Given the description of an element on the screen output the (x, y) to click on. 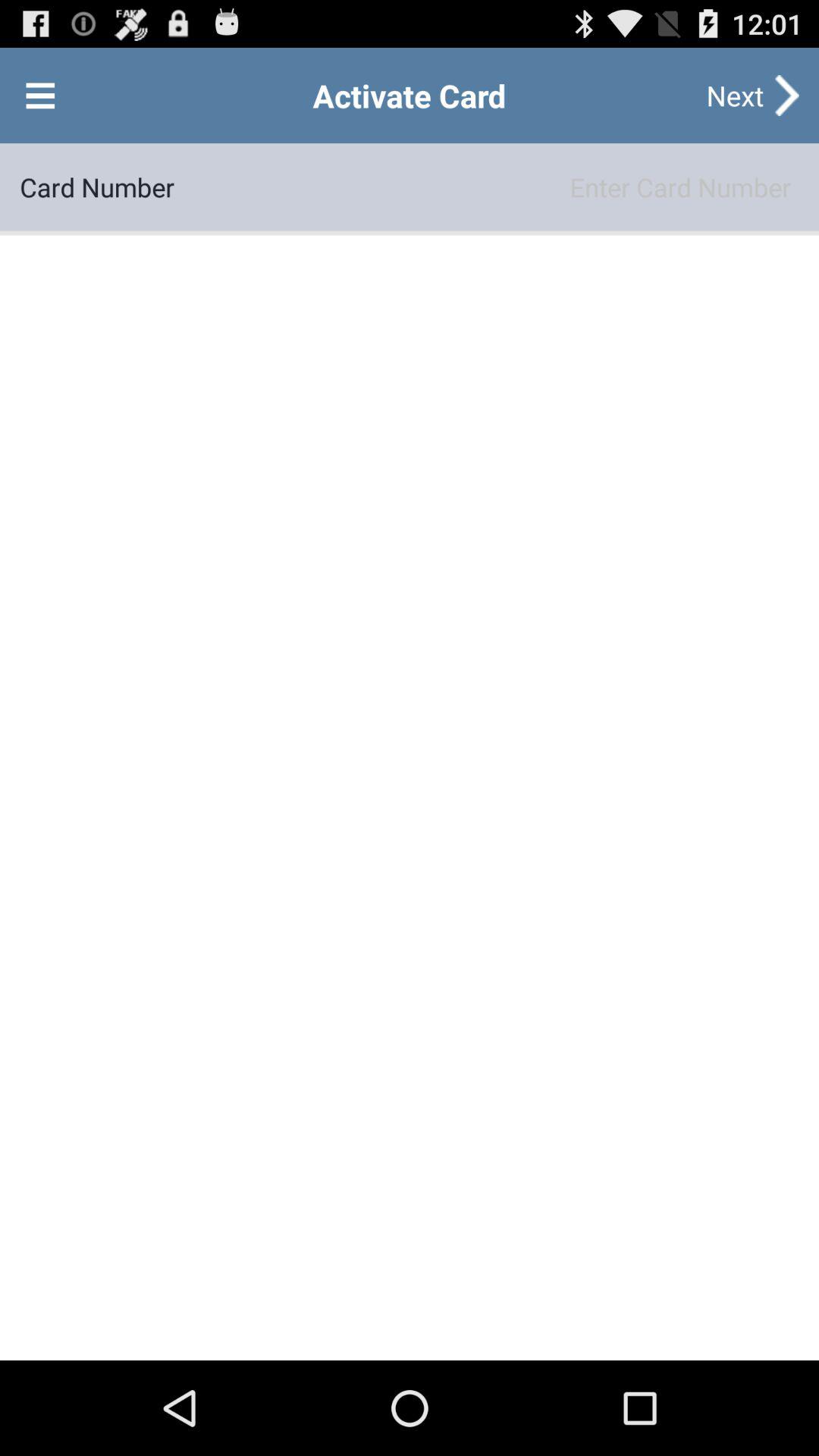
open icon above the card number (39, 95)
